Given the description of an element on the screen output the (x, y) to click on. 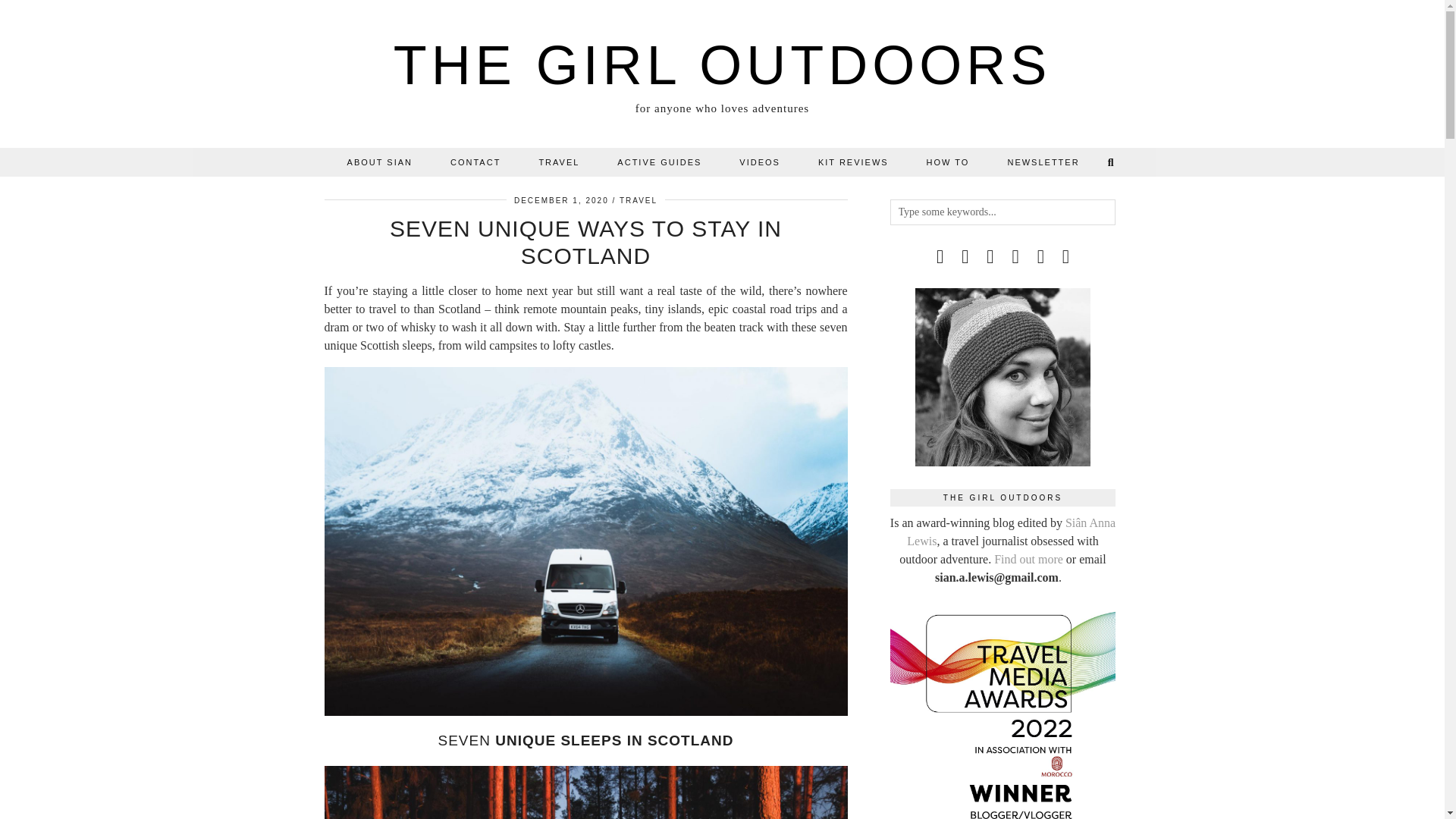
KIT REVIEWS (853, 161)
Search (1111, 161)
HOW TO (947, 161)
VIDEOS (759, 161)
ACTIVE GUIDES (659, 161)
the girl outdoors (722, 65)
TRAVEL (558, 161)
THE GIRL OUTDOORS (722, 65)
CONTACT (474, 161)
ABOUT SIAN (379, 161)
NEWSLETTER (1042, 161)
